Given the description of an element on the screen output the (x, y) to click on. 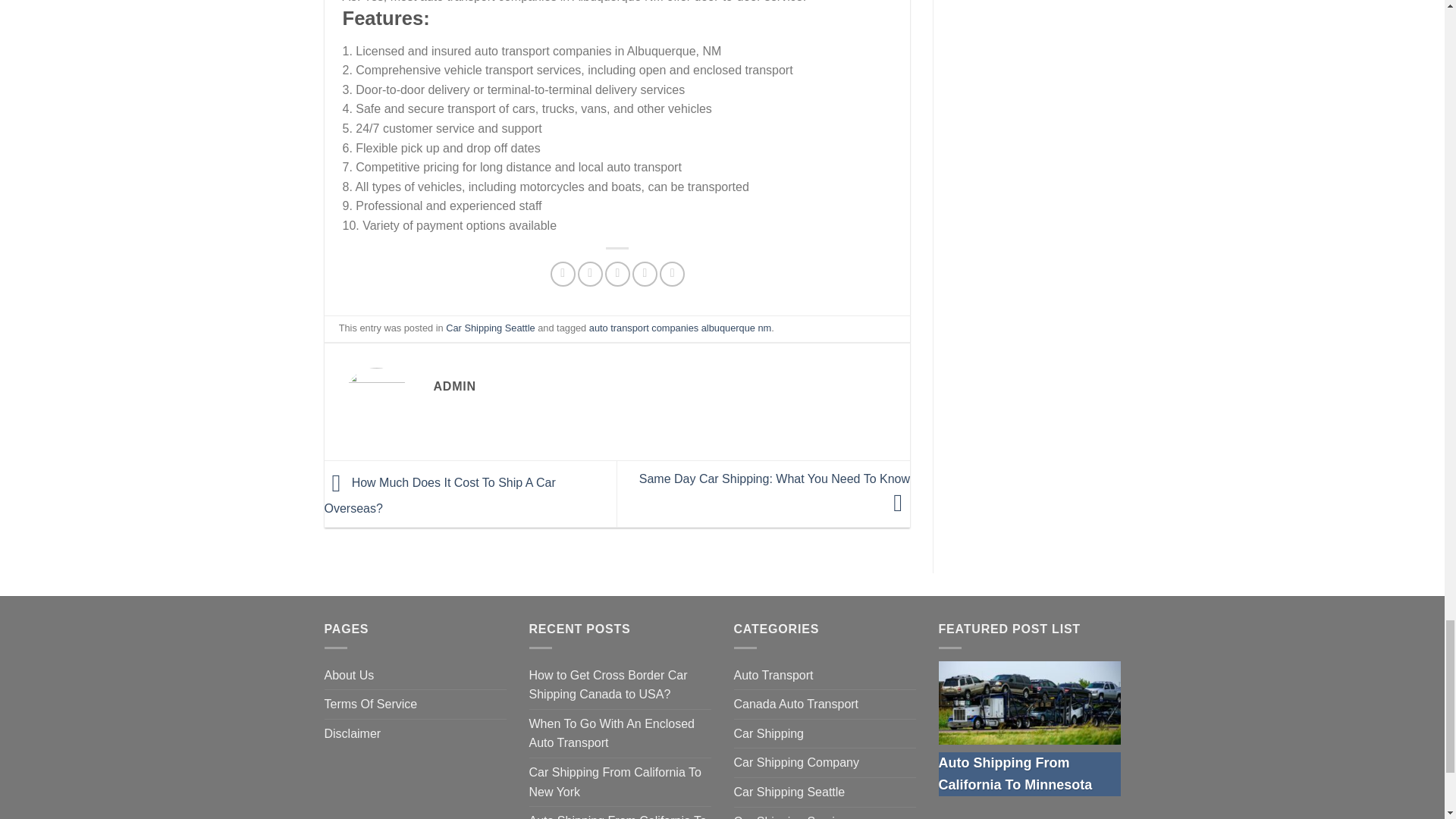
Same Day Car Shipping: What You Need To Know (774, 490)
How Much Does It Cost To Ship A Car Overseas? (440, 495)
Share on Twitter (590, 273)
Car Shipping Seattle (489, 327)
auto transport companies albuquerque nm (680, 327)
Share on Facebook (562, 273)
